Given the description of an element on the screen output the (x, y) to click on. 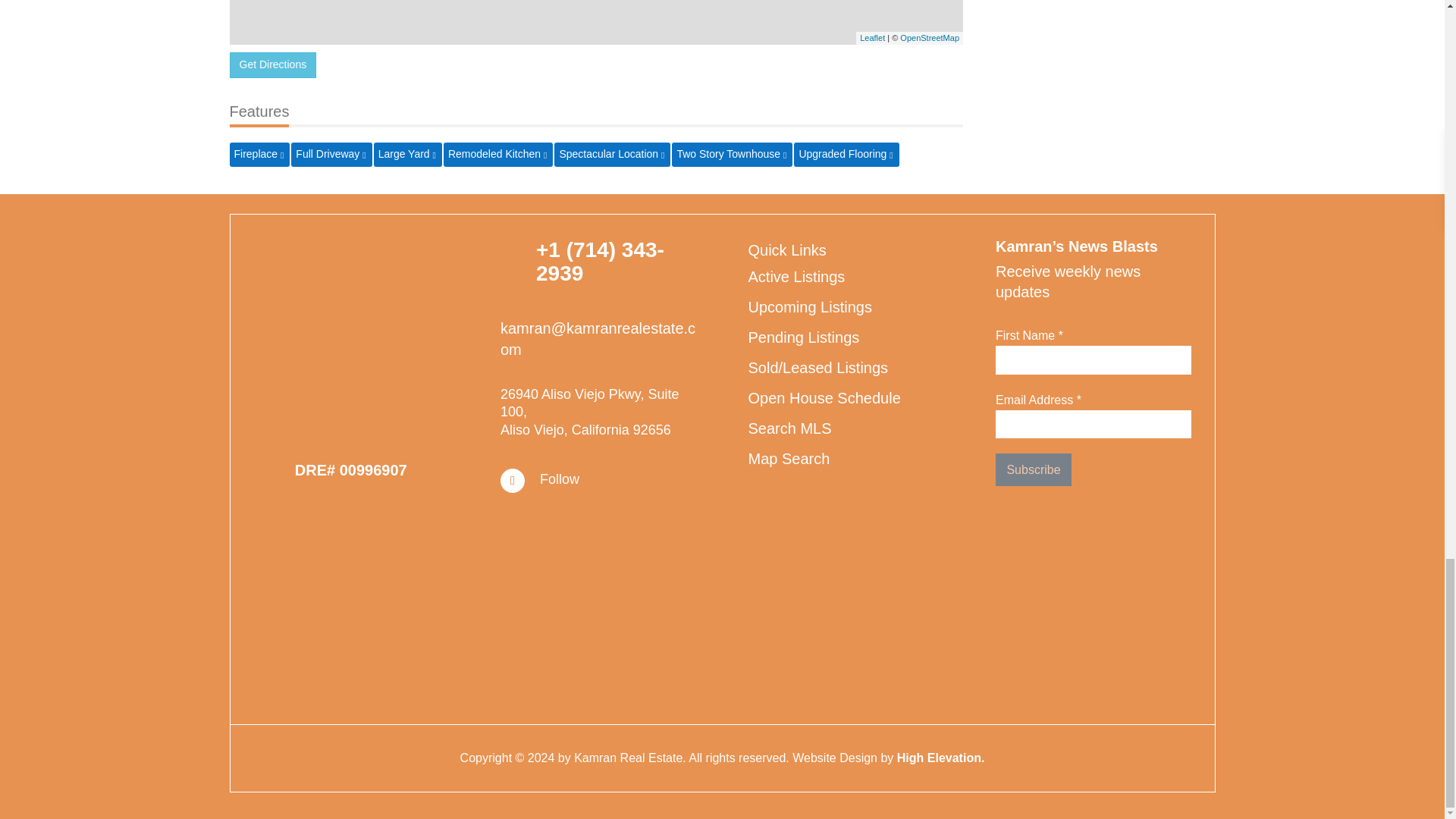
Follow on Facebook (512, 480)
A JS library for interactive maps (872, 37)
Facebook (559, 479)
